Given the description of an element on the screen output the (x, y) to click on. 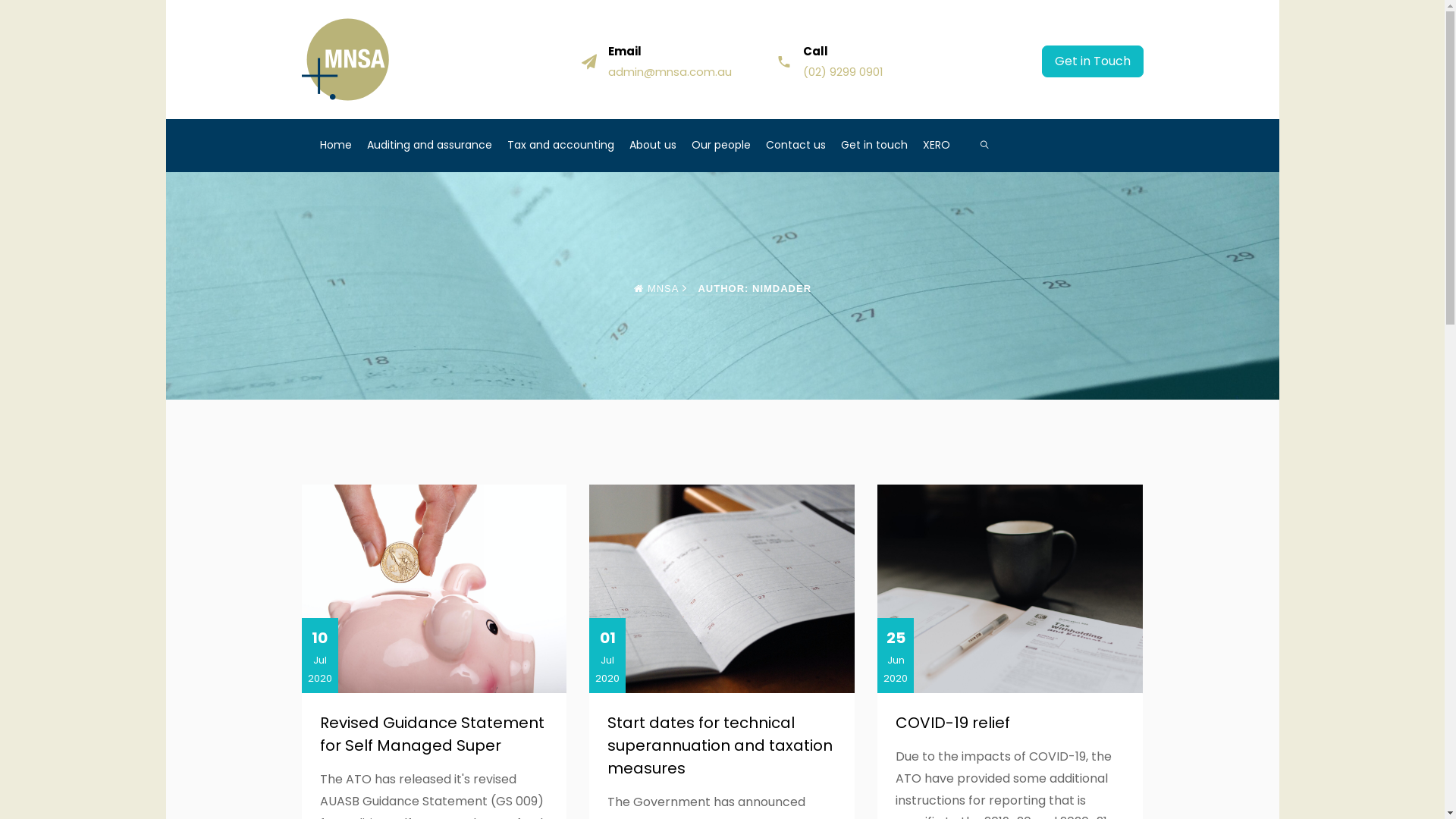
(02) 9299 0901 Element type: text (843, 71)
Home Element type: text (343, 145)
25
Jun
2020 Element type: text (1009, 588)
Revised Guidance Statement for Self Managed Super Element type: text (432, 734)
Tax and accounting Element type: text (567, 145)
Get in touch Element type: text (881, 145)
admin@mnsa.com.au Element type: text (669, 71)
COVID-19 relief Element type: text (952, 722)
Auditing and assurance Element type: text (437, 145)
MNSA Element type: text (656, 288)
01
Jul
2020 Element type: text (721, 588)
Our people Element type: text (728, 145)
XERO Element type: text (943, 145)
Get in Touch Element type: text (1092, 61)
Contact us Element type: text (802, 145)
About us Element type: text (660, 145)
10
Jul
2020 Element type: text (434, 588)
